Given the description of an element on the screen output the (x, y) to click on. 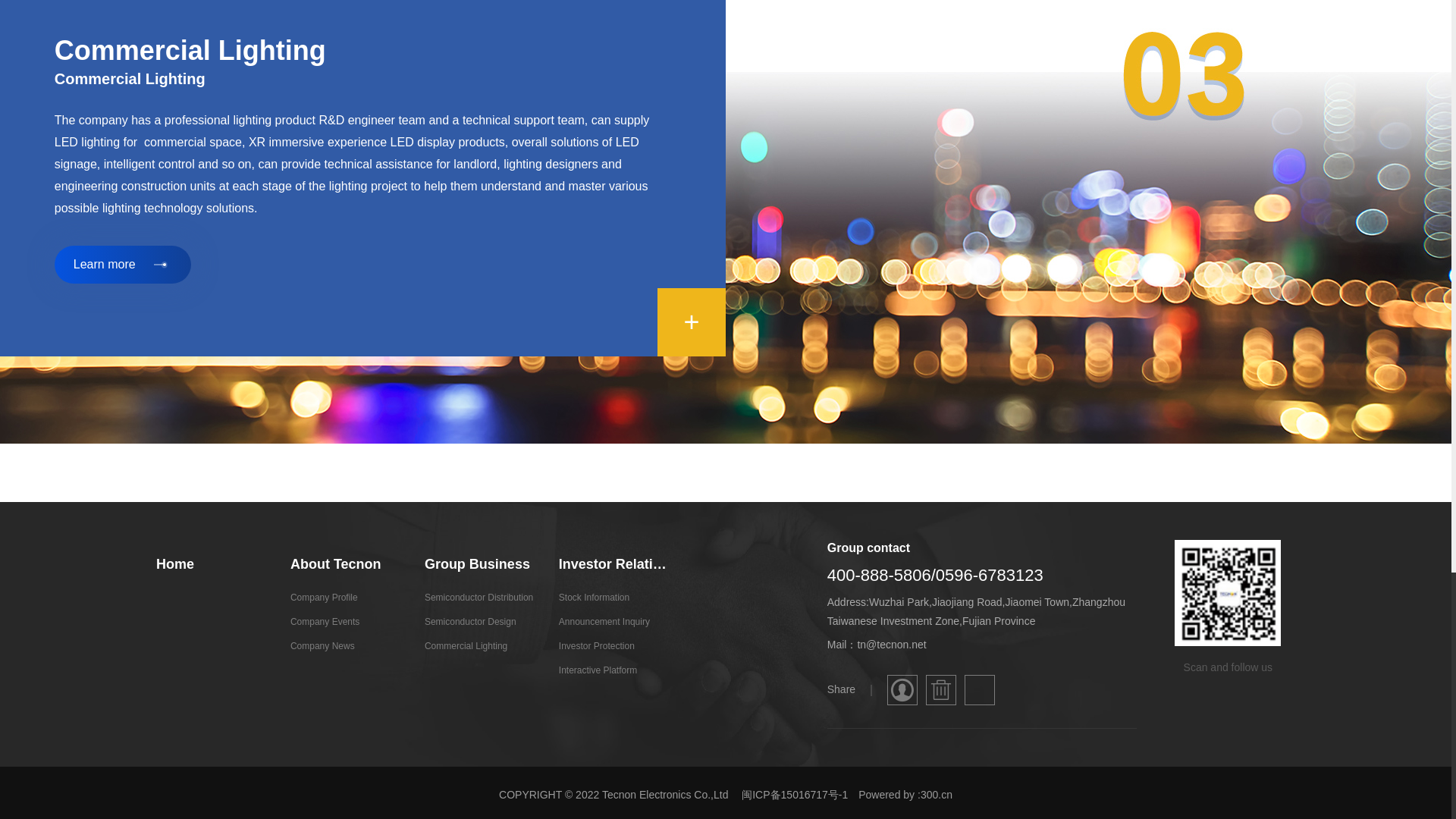
Learn more (122, 264)
Group Business (479, 563)
Company News (344, 645)
Company Events (344, 621)
Home (210, 563)
About Tecnon (344, 563)
Company Profile (344, 597)
